Given the description of an element on the screen output the (x, y) to click on. 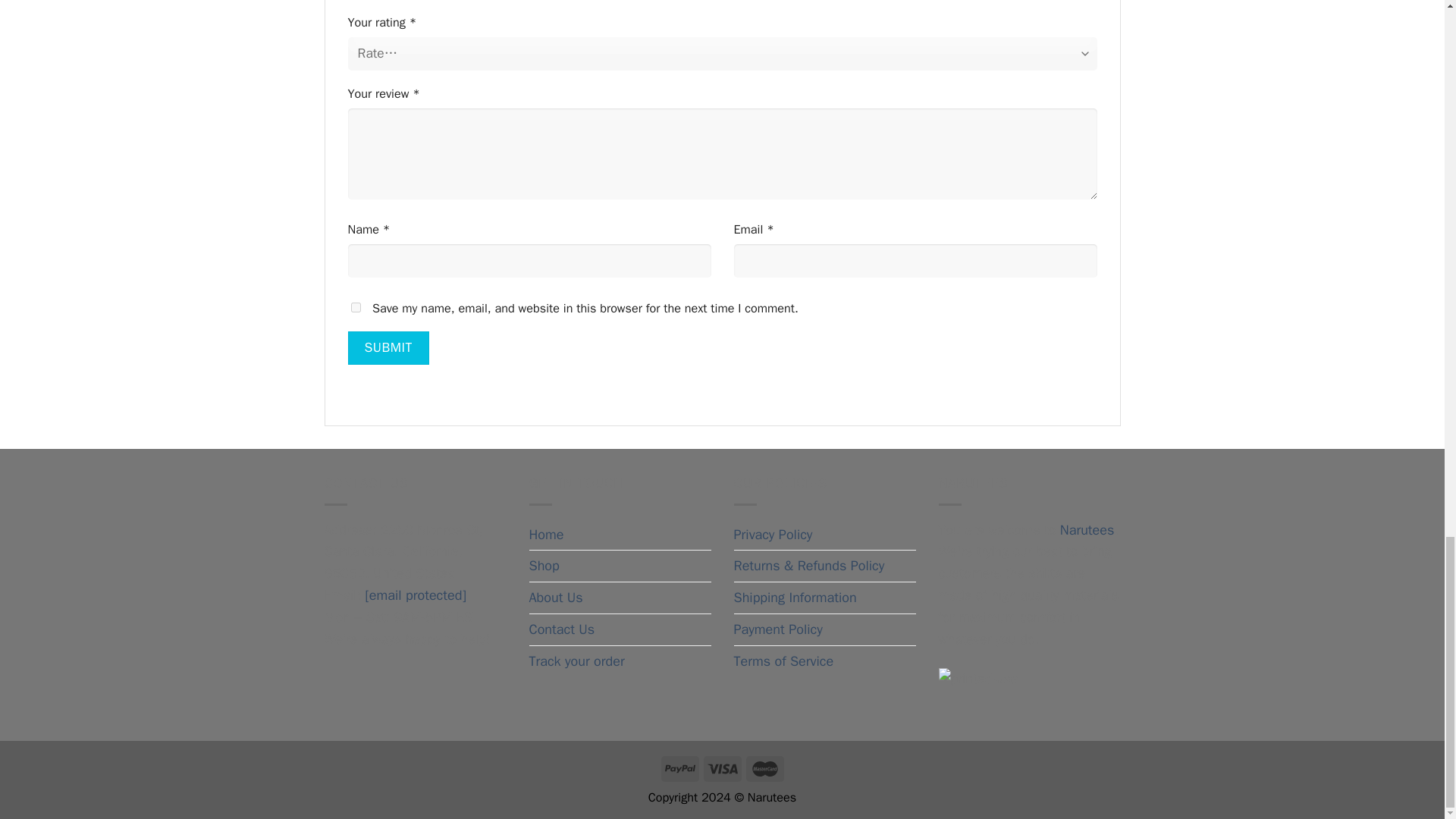
Submit (387, 347)
yes (354, 307)
